Given the description of an element on the screen output the (x, y) to click on. 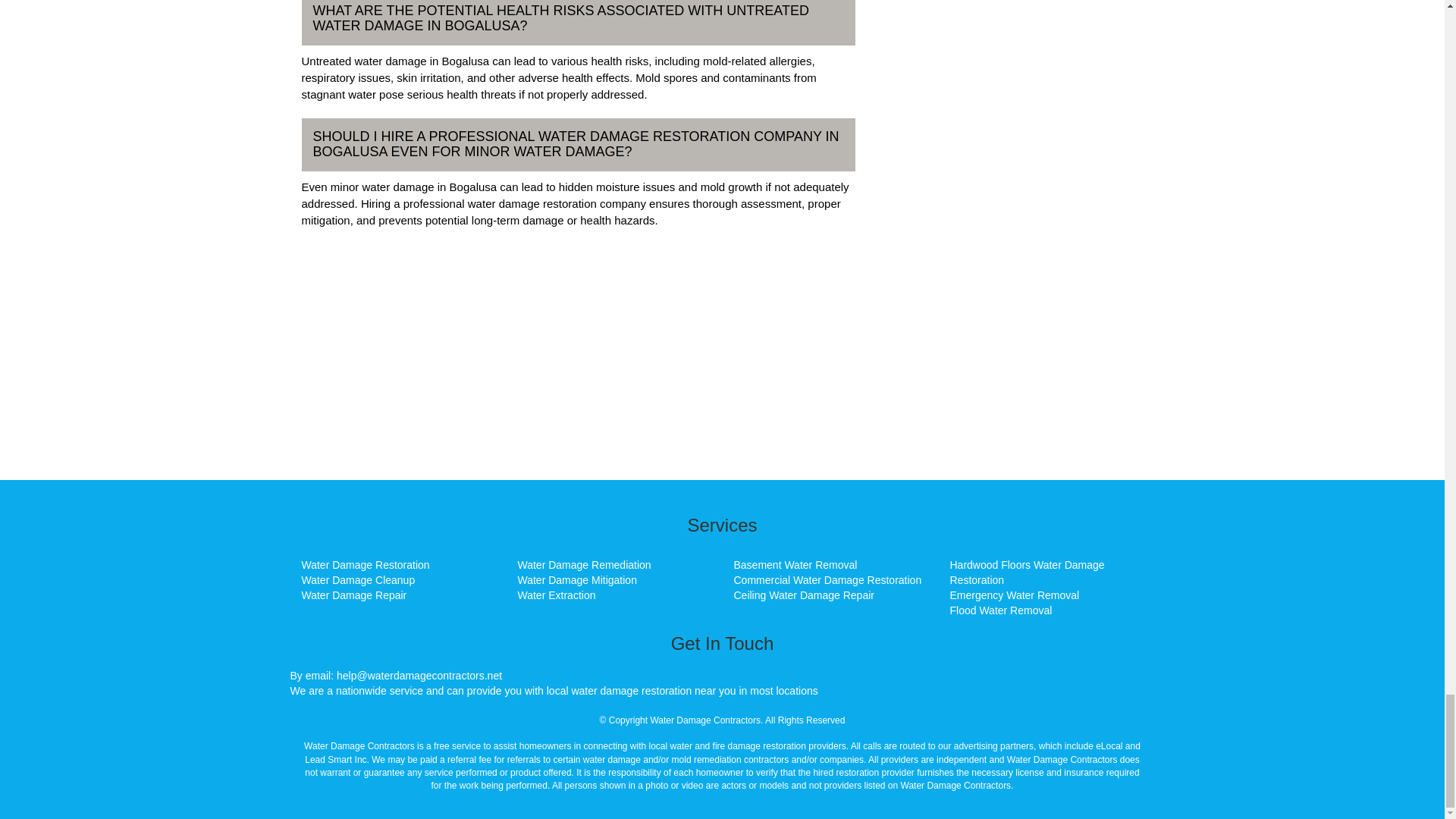
Water Damage Repair (354, 594)
Water Damage Mitigation (576, 580)
Find Water Damage Restoration Near You (365, 564)
Find Water Damage Cleanup Near You (357, 580)
Emergency Water Removal (1013, 594)
Hardwood Floors Water Damage Restoration (1026, 572)
Water Extraction (555, 594)
Basement Water Removal (795, 564)
Commercial Water Damage Restoration (827, 580)
Ceiling Water Damage Repair (804, 594)
